Given the description of an element on the screen output the (x, y) to click on. 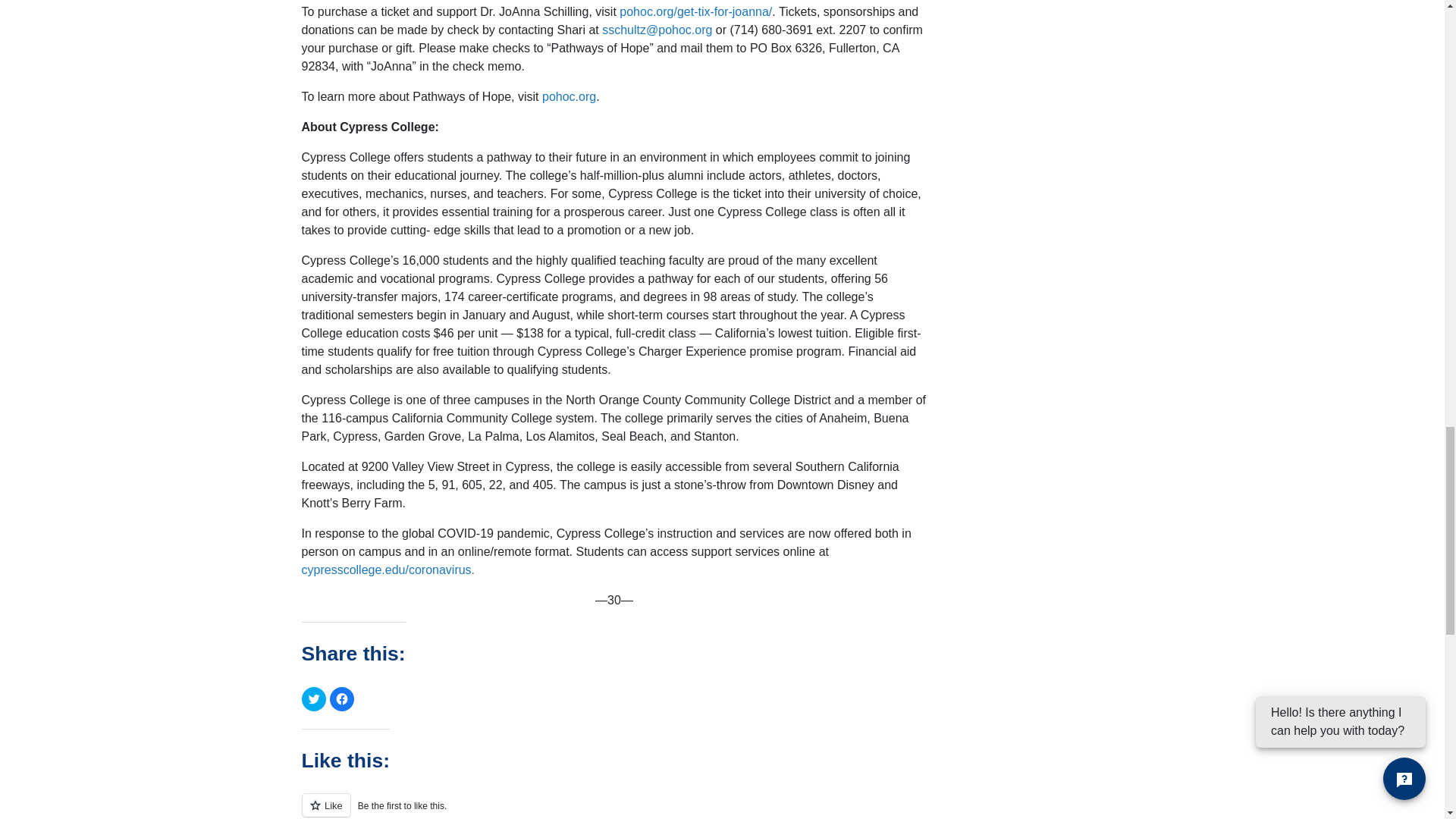
Like or Reblog (614, 806)
Click to share on Twitter (313, 699)
Click to share on Facebook (341, 699)
